Given the description of an element on the screen output the (x, y) to click on. 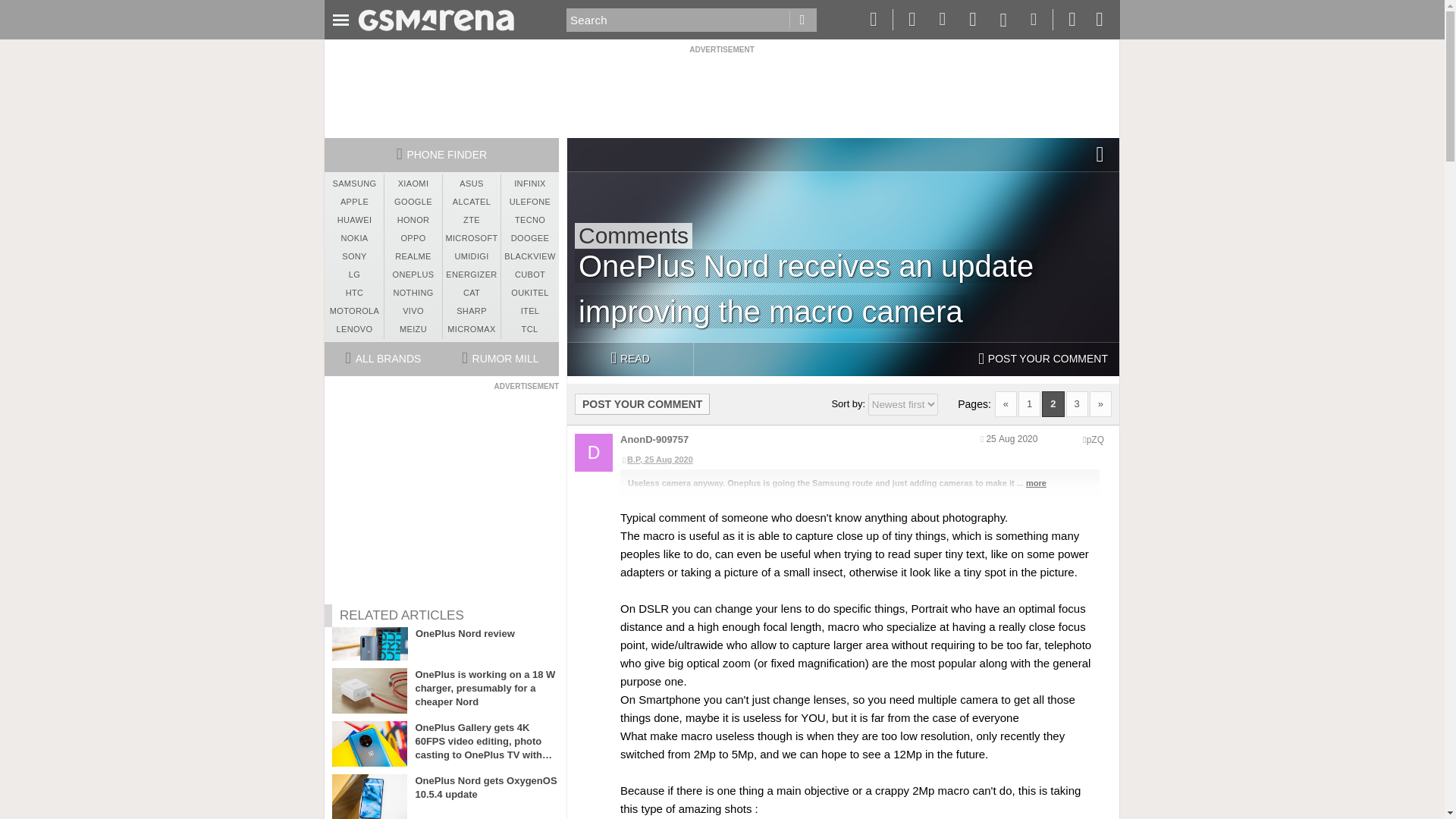
POST YOUR COMMENT (642, 403)
Go (802, 19)
Go (802, 19)
B.P, 25 Aug 2020 (859, 459)
Encoded anonymized location (1094, 439)
more (1036, 482)
READ (630, 359)
Sort comments by (902, 404)
POST YOUR COMMENT (1042, 359)
